Given the description of an element on the screen output the (x, y) to click on. 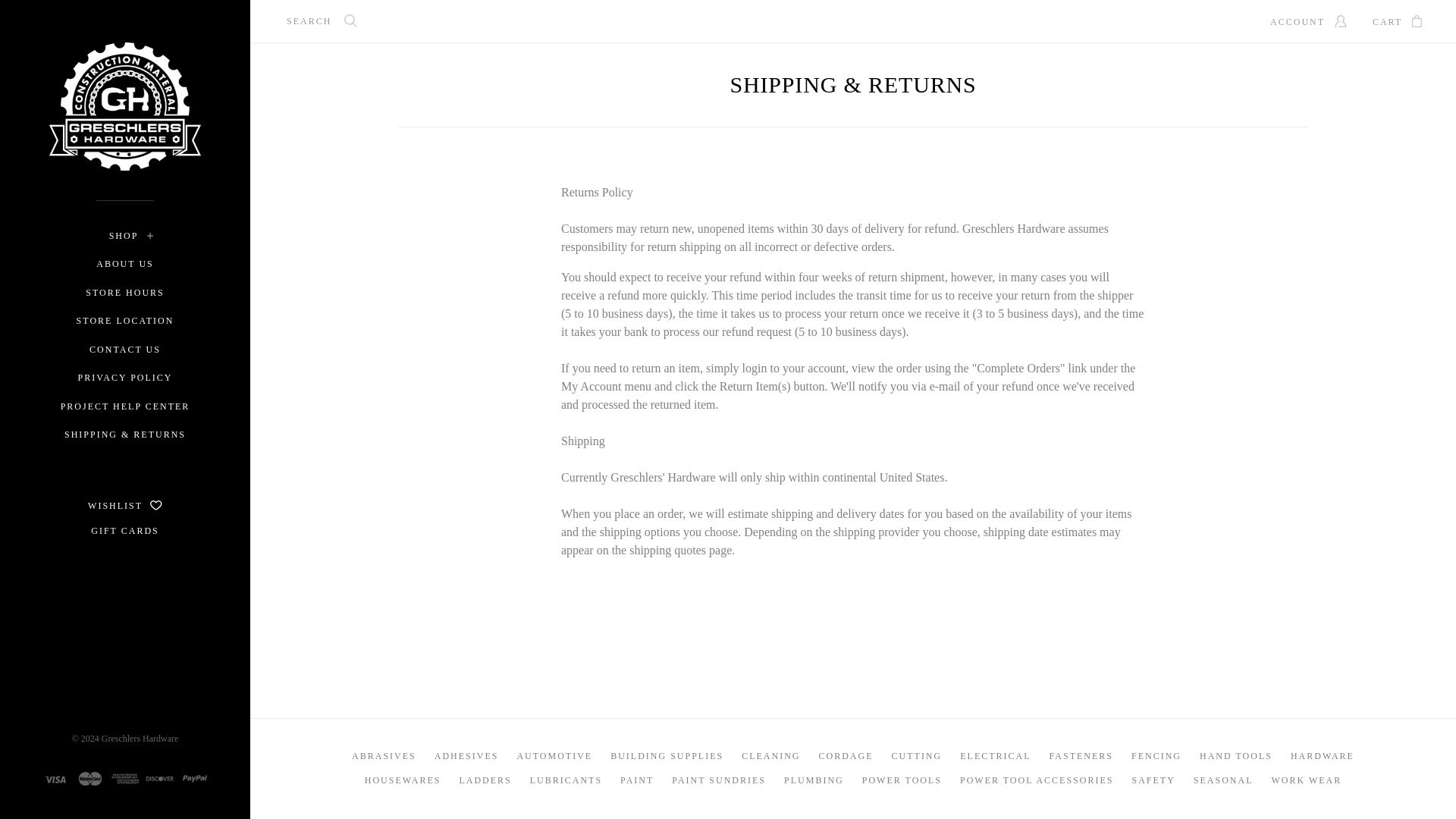
CONTACT US (124, 350)
PROJECT HELP CENTER (125, 407)
PRIVACY POLICY (124, 378)
STORE LOCATION (125, 321)
ABOUT US (124, 264)
SHOP (123, 236)
STORE HOURS (124, 293)
WISHLIST (124, 505)
Greschlers Hardware (140, 738)
GIFT CARDS (124, 530)
